Given the description of an element on the screen output the (x, y) to click on. 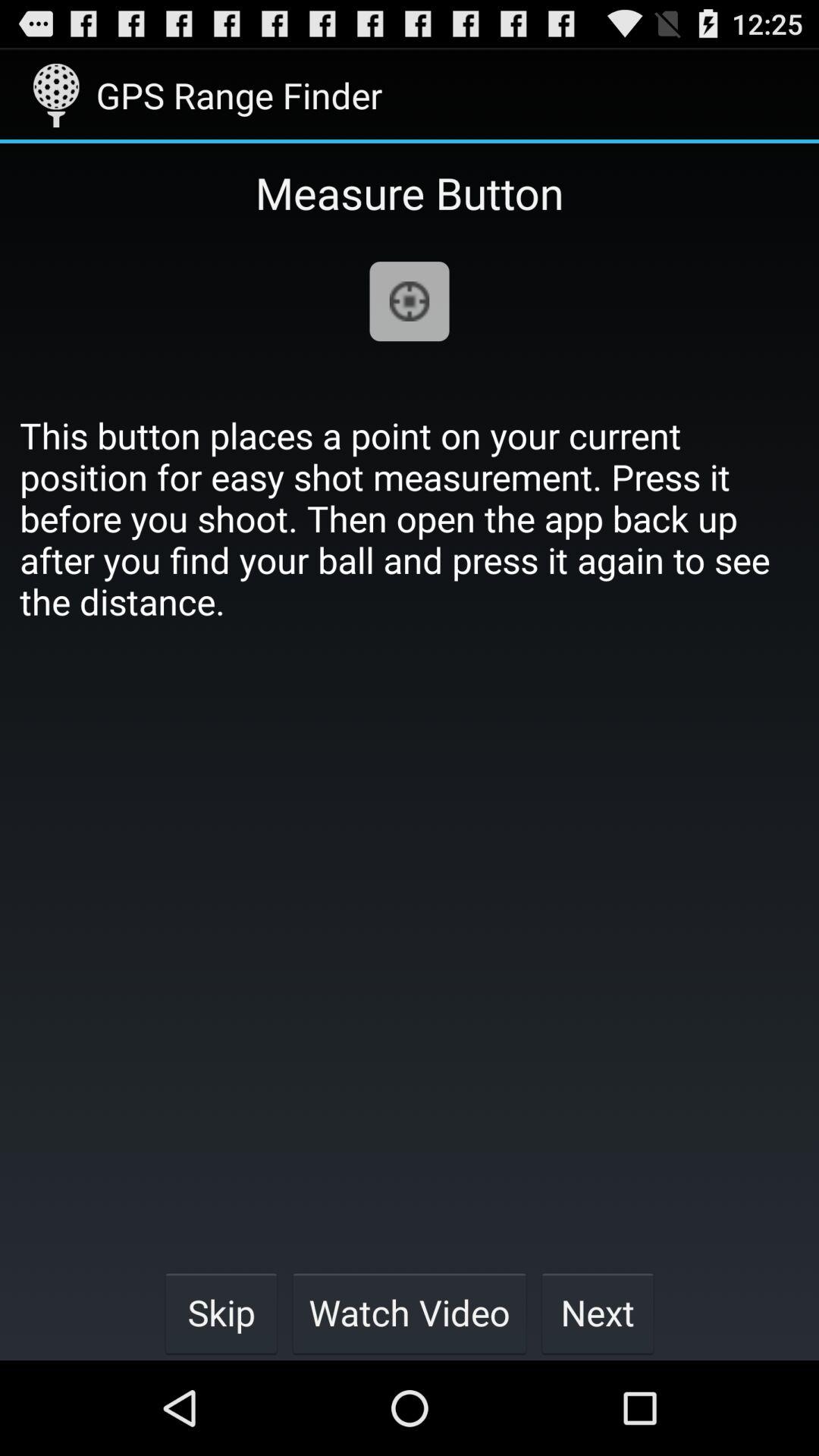
tap item next to skip icon (409, 1312)
